Given the description of an element on the screen output the (x, y) to click on. 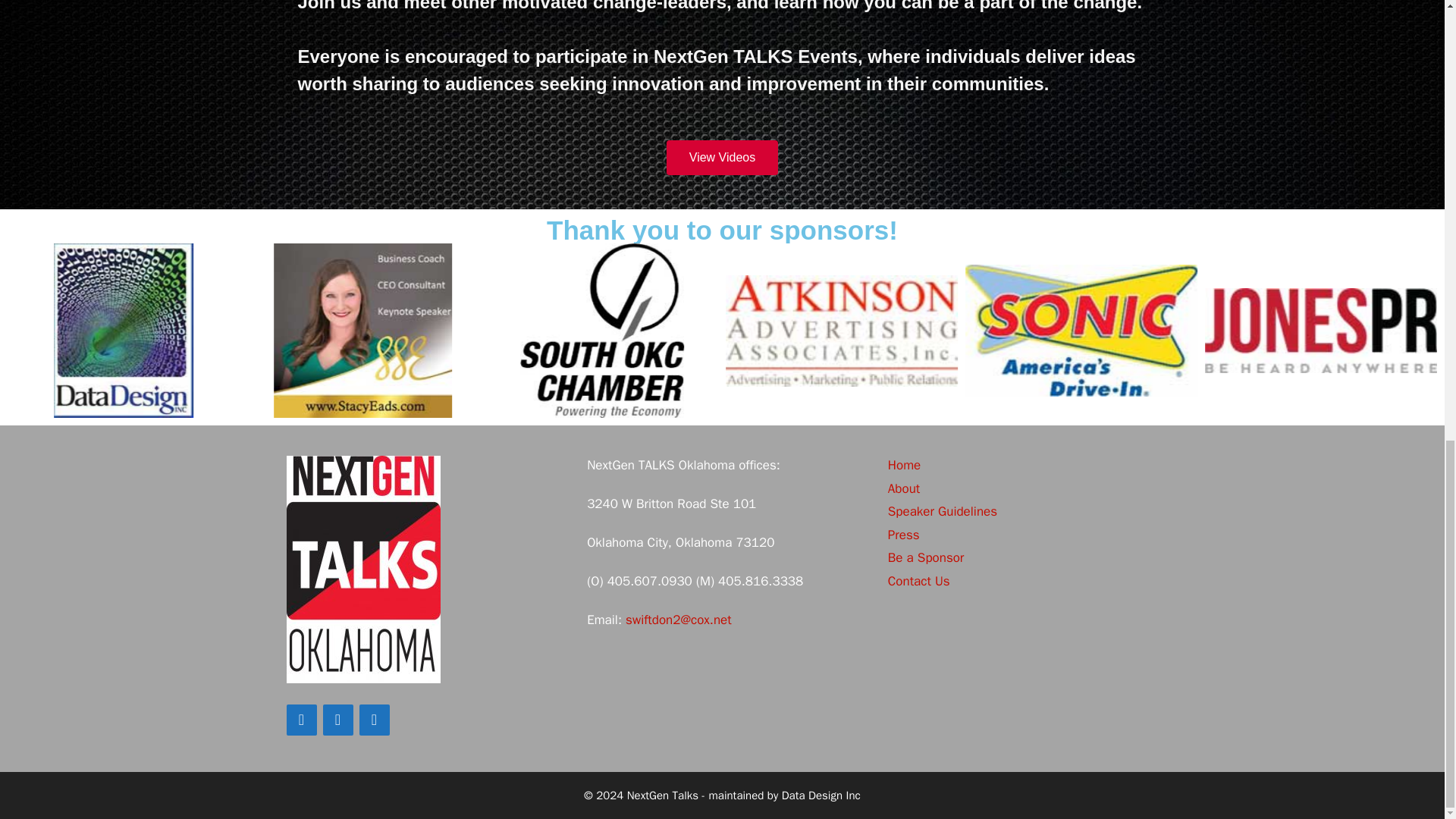
Twitter (338, 719)
Instagram (374, 719)
Home (904, 465)
About (904, 488)
Scroll back to top (1406, 583)
Facebook (301, 719)
View Videos (721, 157)
